Given the description of an element on the screen output the (x, y) to click on. 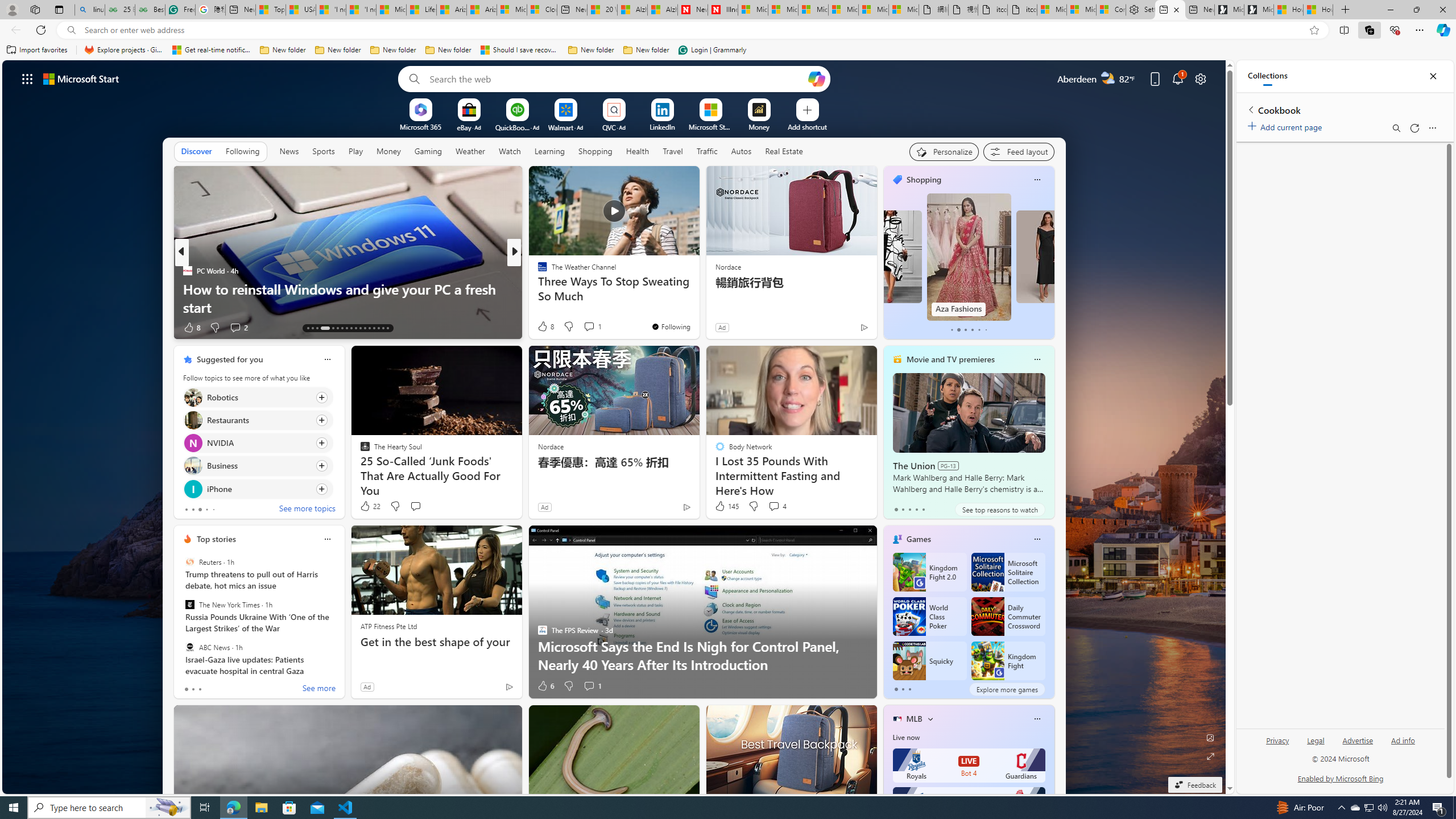
New folder (646, 49)
Click to follow topic Restaurants (257, 419)
next (338, 432)
ATP Fitness Pte Ltd (388, 625)
Enter your search term (617, 78)
Expand background (1210, 756)
See more topics (306, 509)
Weather (470, 151)
86 Like (543, 327)
Dislike (568, 685)
The Independent (537, 270)
